Given the description of an element on the screen output the (x, y) to click on. 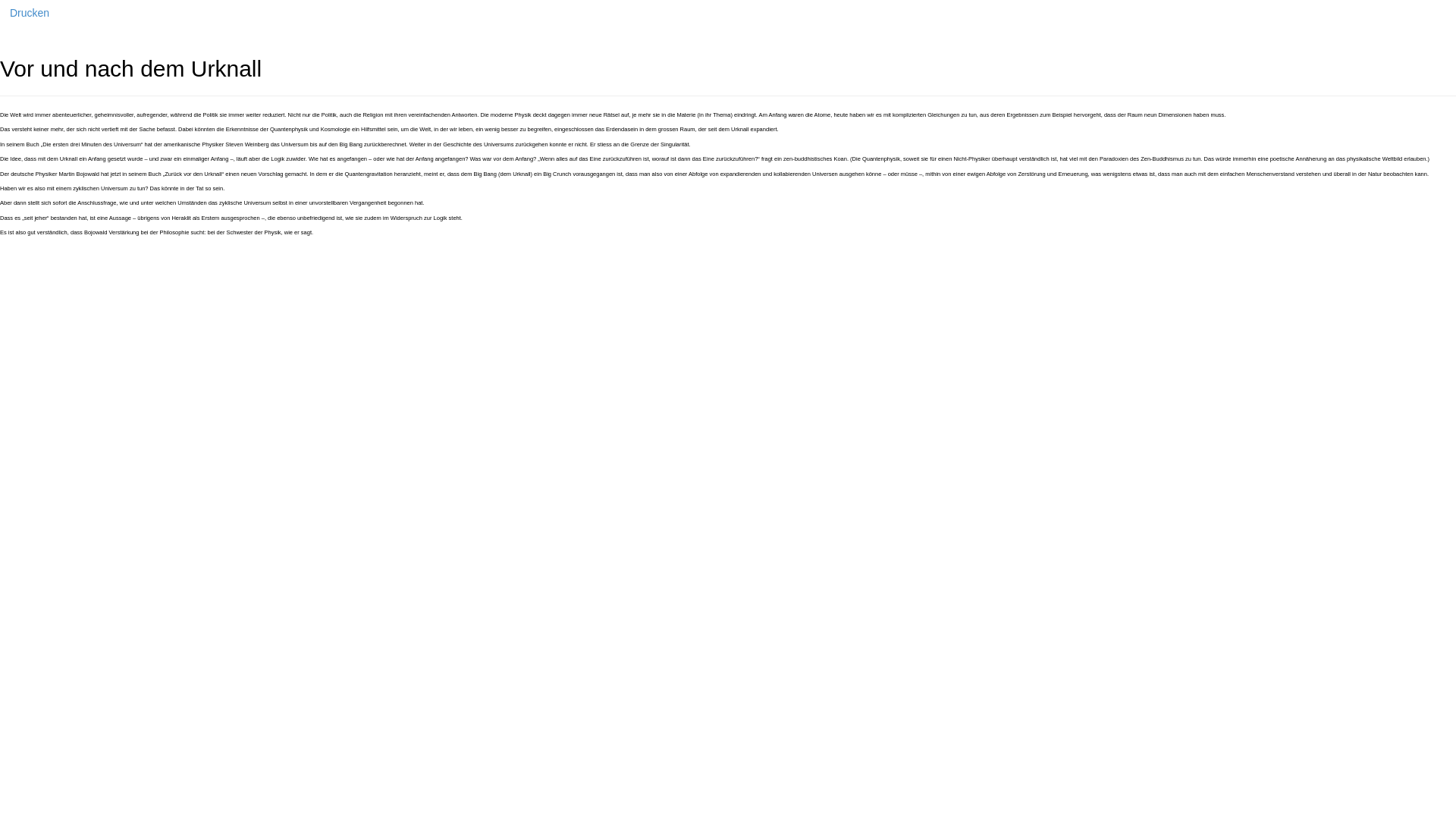
Drucken Element type: text (29, 12)
